Given the description of an element on the screen output the (x, y) to click on. 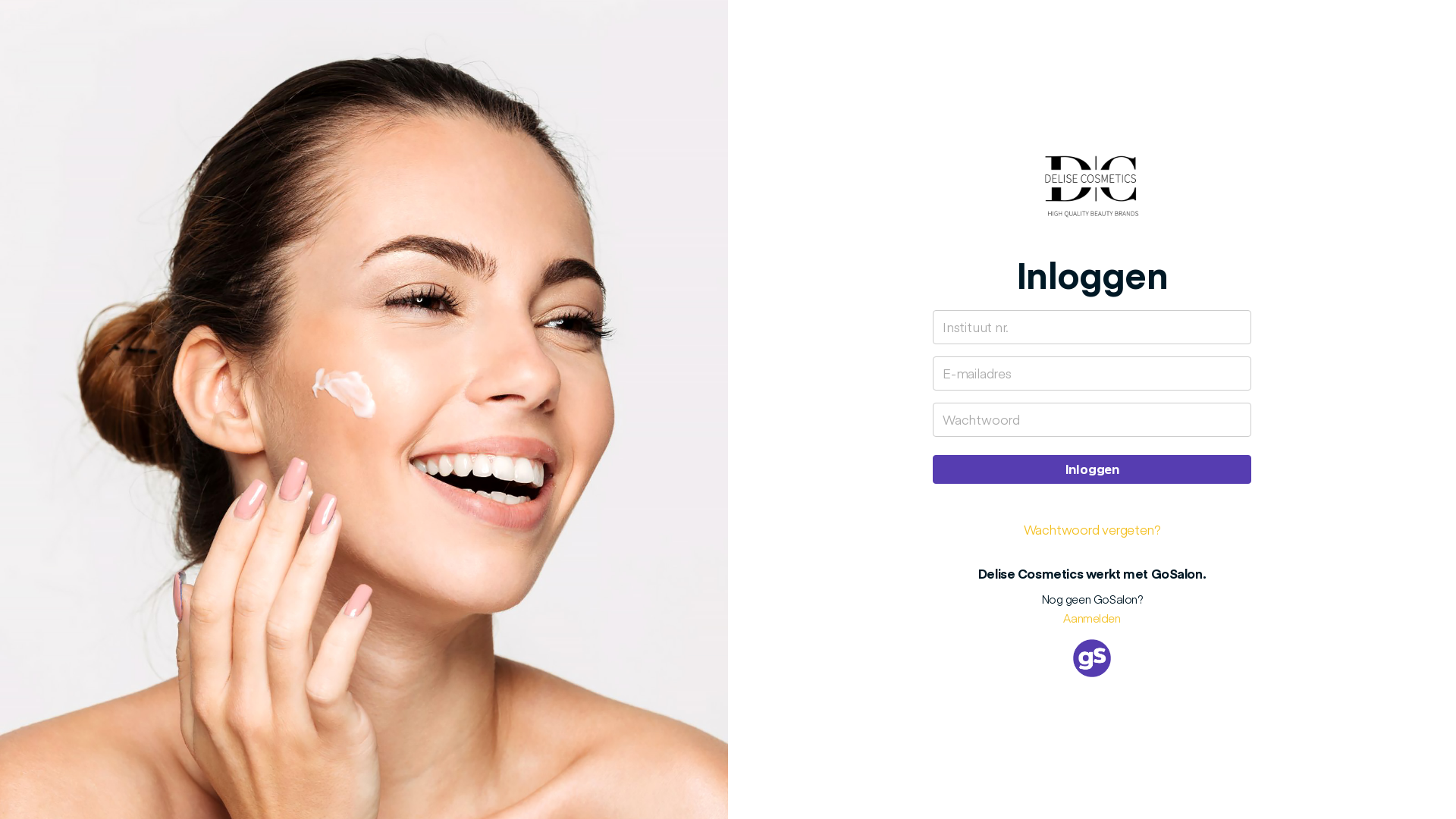
Aanmelden Element type: text (1091, 617)
Inloggen Element type: text (1091, 469)
Wachtwoord vergeten? Element type: text (1092, 529)
